Given the description of an element on the screen output the (x, y) to click on. 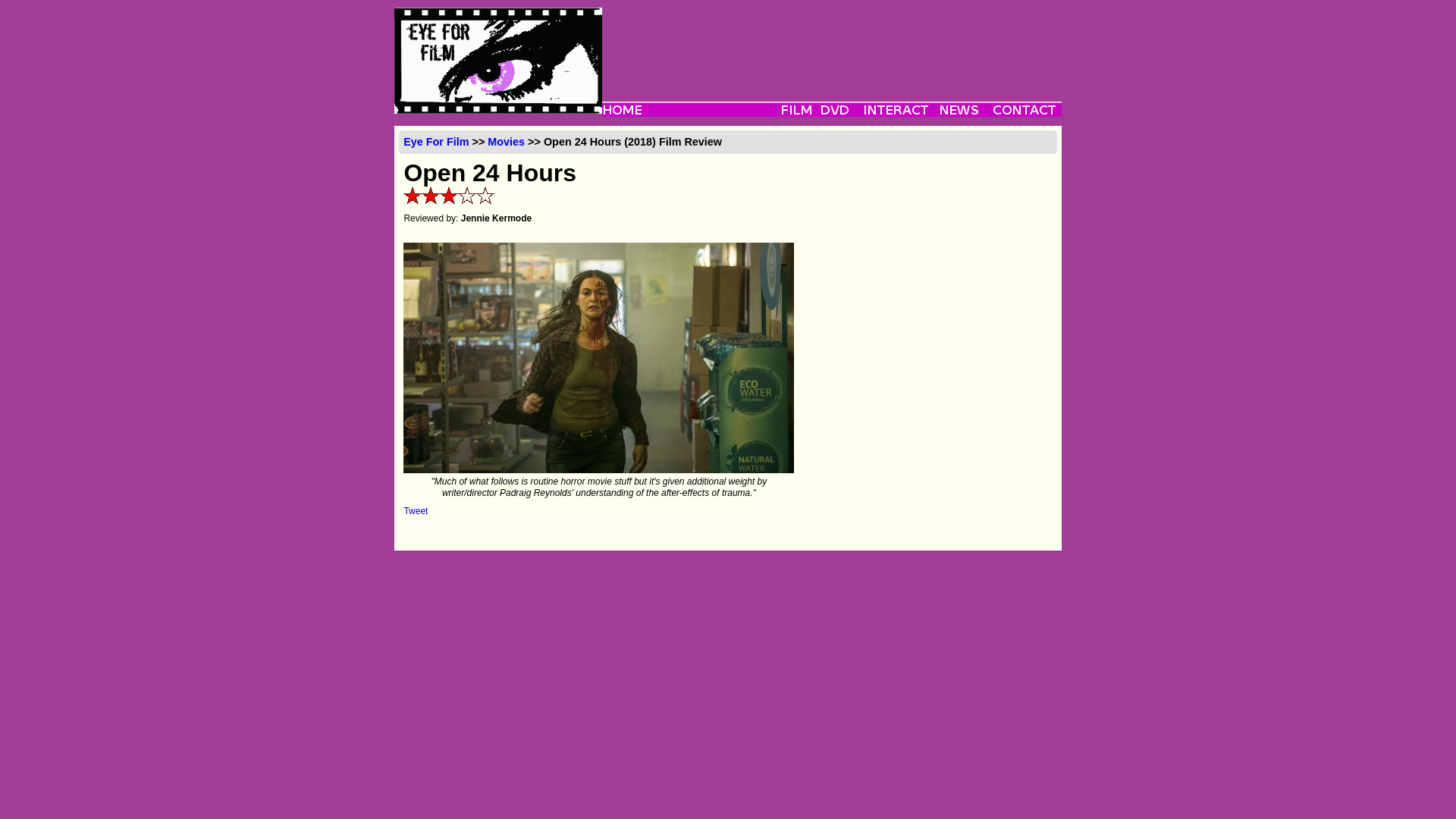
Jennie Kermode (496, 217)
Eye For Film (435, 141)
Advertisement (832, 41)
Movies (505, 141)
Tweet (415, 511)
